Given the description of an element on the screen output the (x, y) to click on. 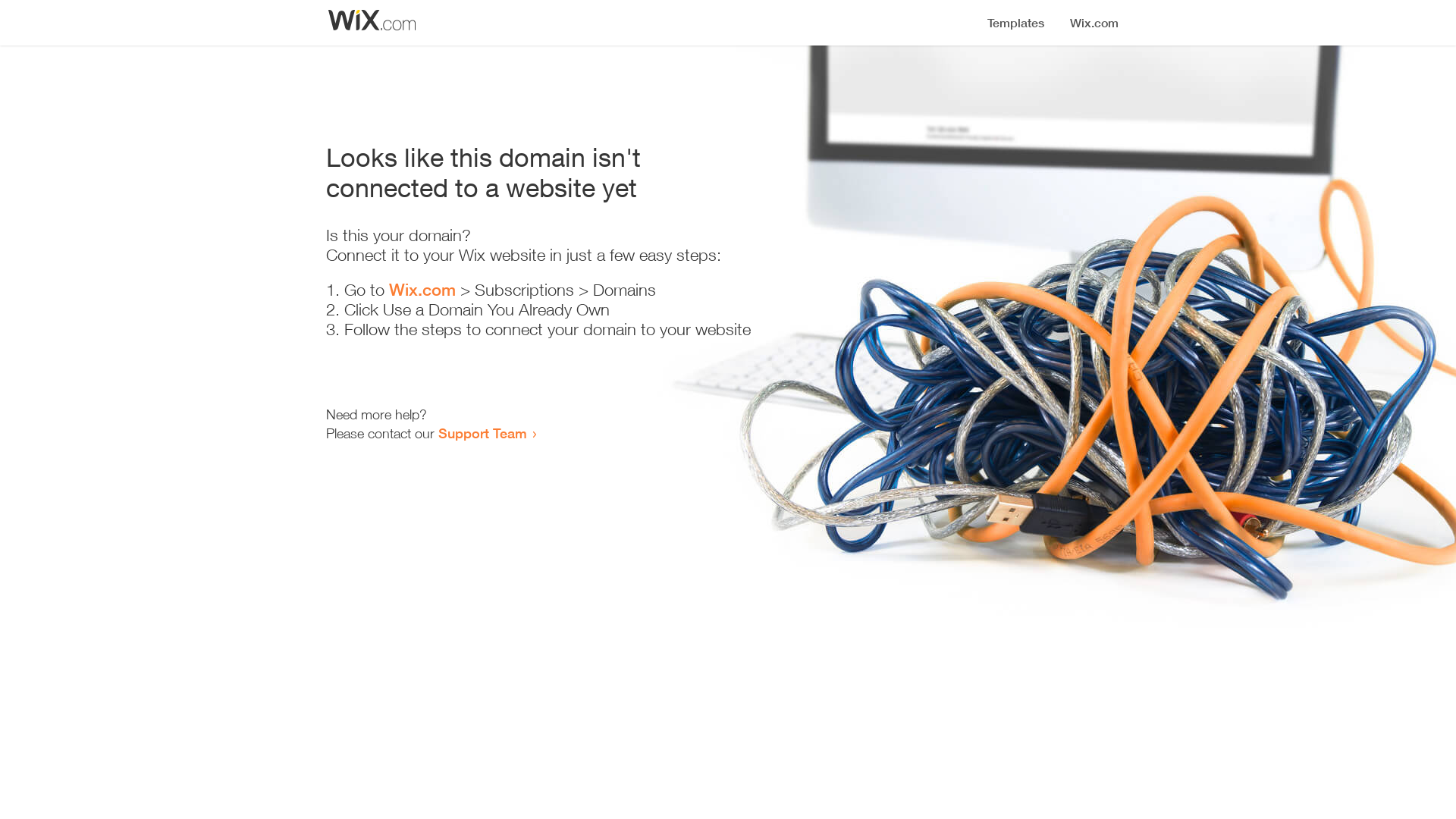
Support Team Element type: text (482, 432)
Wix.com Element type: text (422, 289)
